Given the description of an element on the screen output the (x, y) to click on. 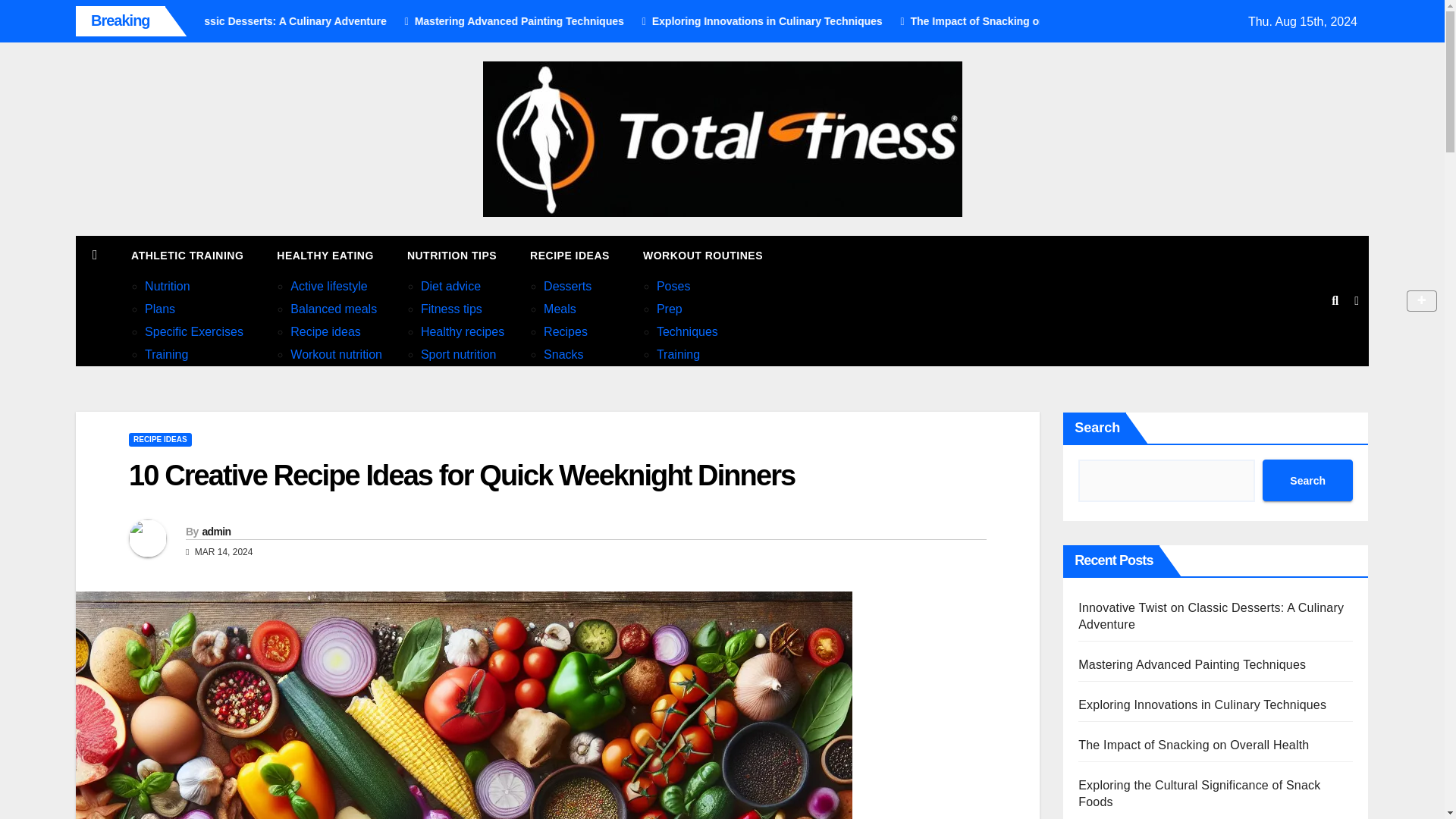
Healthy recipes (461, 331)
RECIPE IDEAS (569, 255)
Plans (159, 308)
Recipe ideas (325, 331)
Nutrition (167, 286)
Fitness tips (450, 308)
Mastering Advanced Painting Techniques (646, 21)
Desserts (567, 286)
Workout nutrition (335, 354)
